Given the description of an element on the screen output the (x, y) to click on. 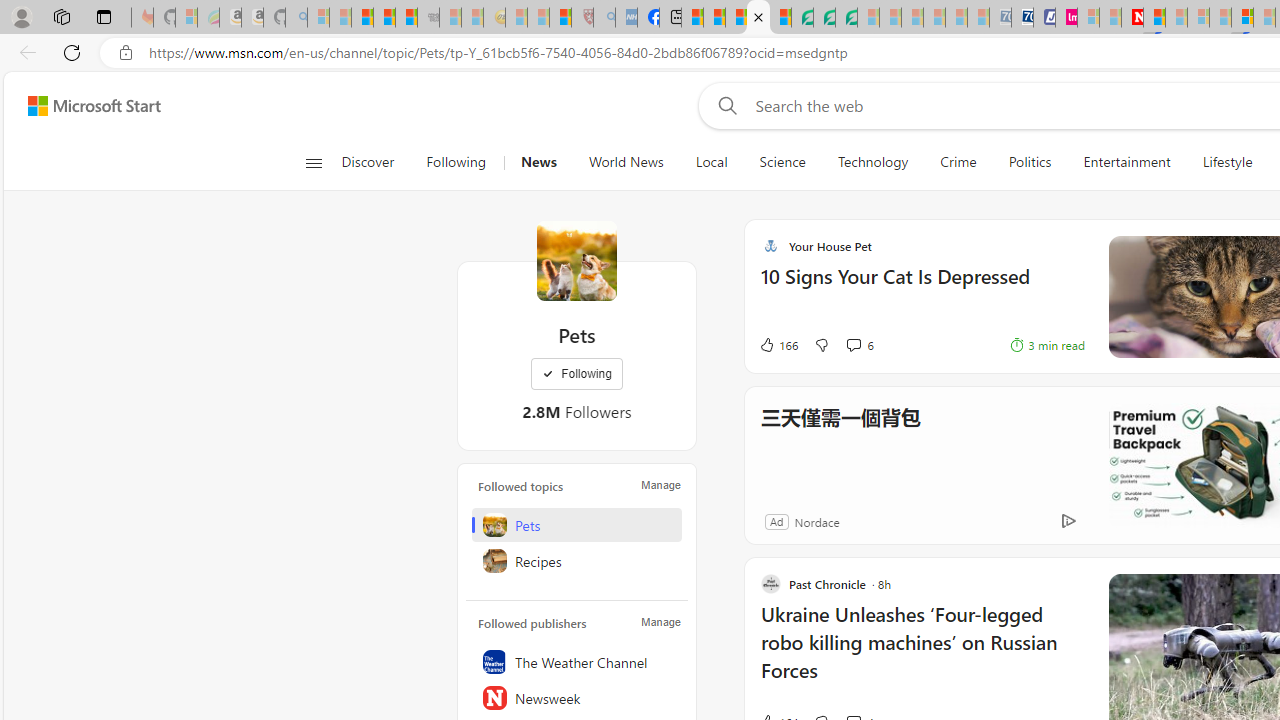
Terms of Use Agreement (824, 17)
Pets (577, 525)
Microsoft Word - consumer-privacy address update 2.2021 (846, 17)
